Given the description of an element on the screen output the (x, y) to click on. 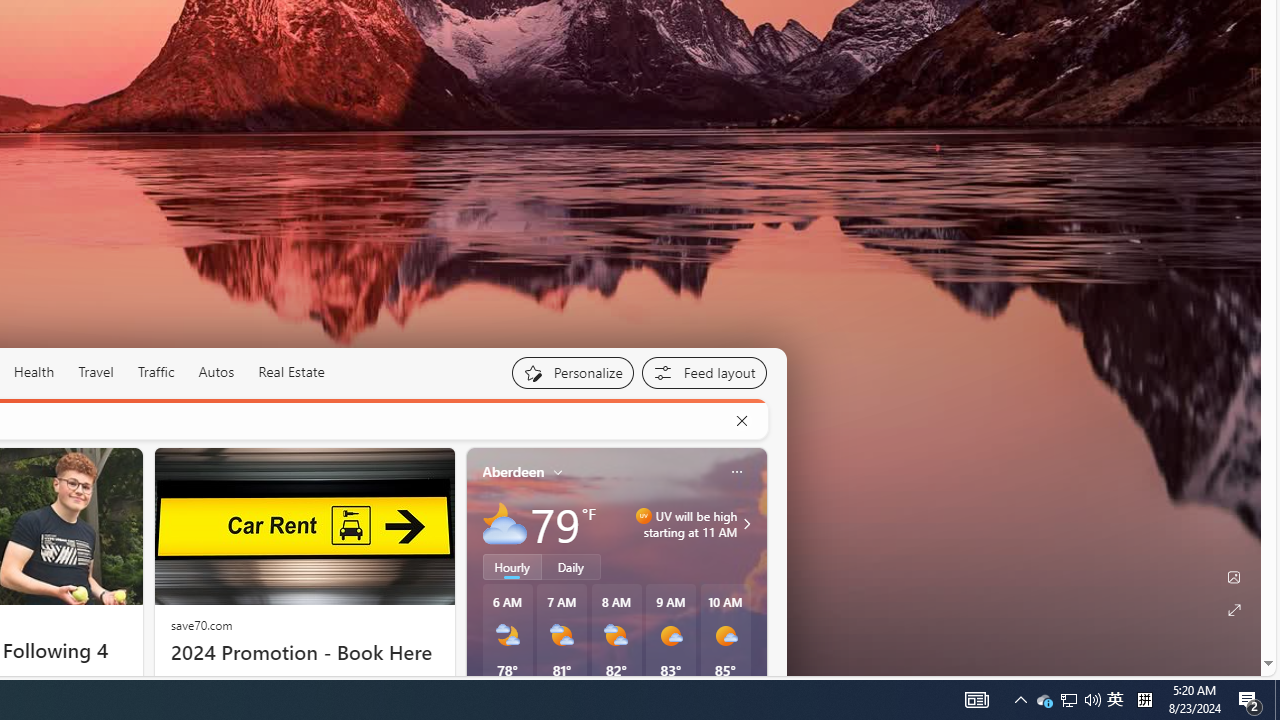
My location (558, 471)
Travel (95, 372)
Aberdeen (513, 471)
Mostly cloudy (504, 523)
Mostly cloudy (504, 523)
Class: icon-img (736, 471)
Autos (216, 372)
Travel (95, 371)
Expand background (1233, 610)
Traffic (155, 371)
